Given the description of an element on the screen output the (x, y) to click on. 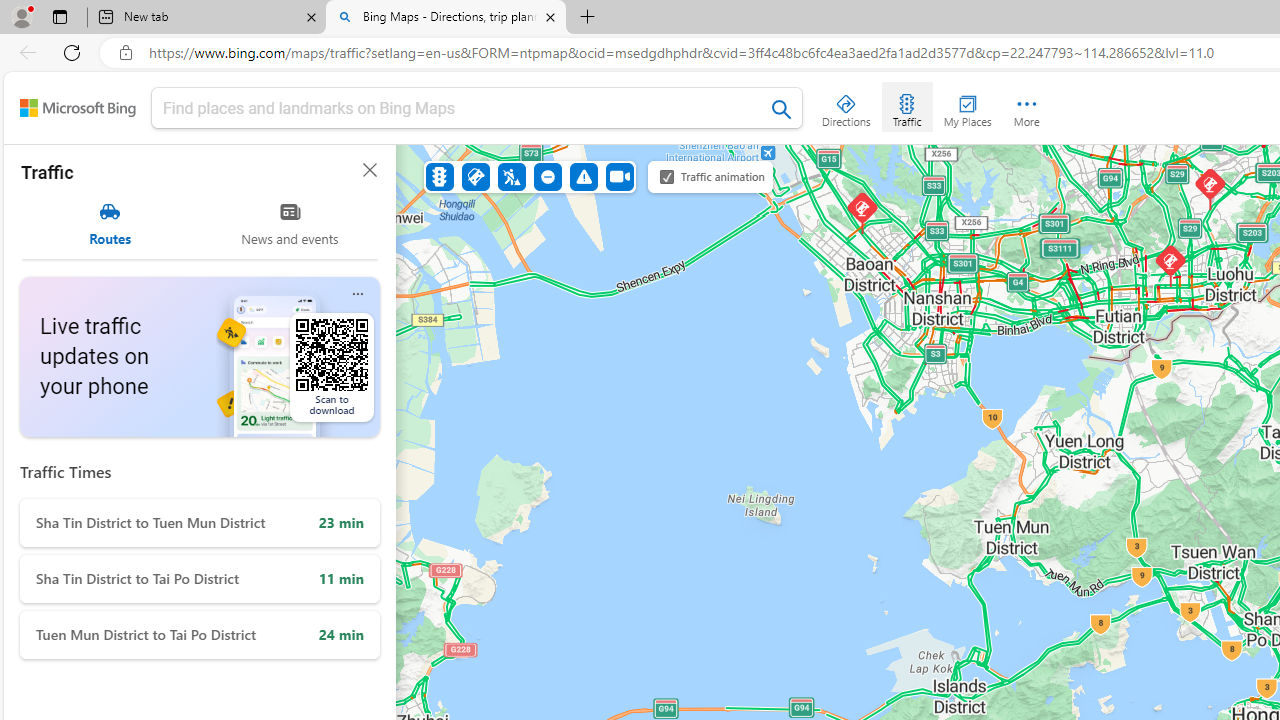
Construction (511, 176)
Add a search (461, 107)
Routes (109, 223)
Live traffic updates on your phone Scan to download (200, 357)
Class: inputbox (477, 111)
More (1026, 106)
More (1026, 106)
Accidents (476, 176)
Sha Tin District to Tuen Mun District (200, 522)
Tuen Mun District to Tai Po District (200, 634)
